Given the description of an element on the screen output the (x, y) to click on. 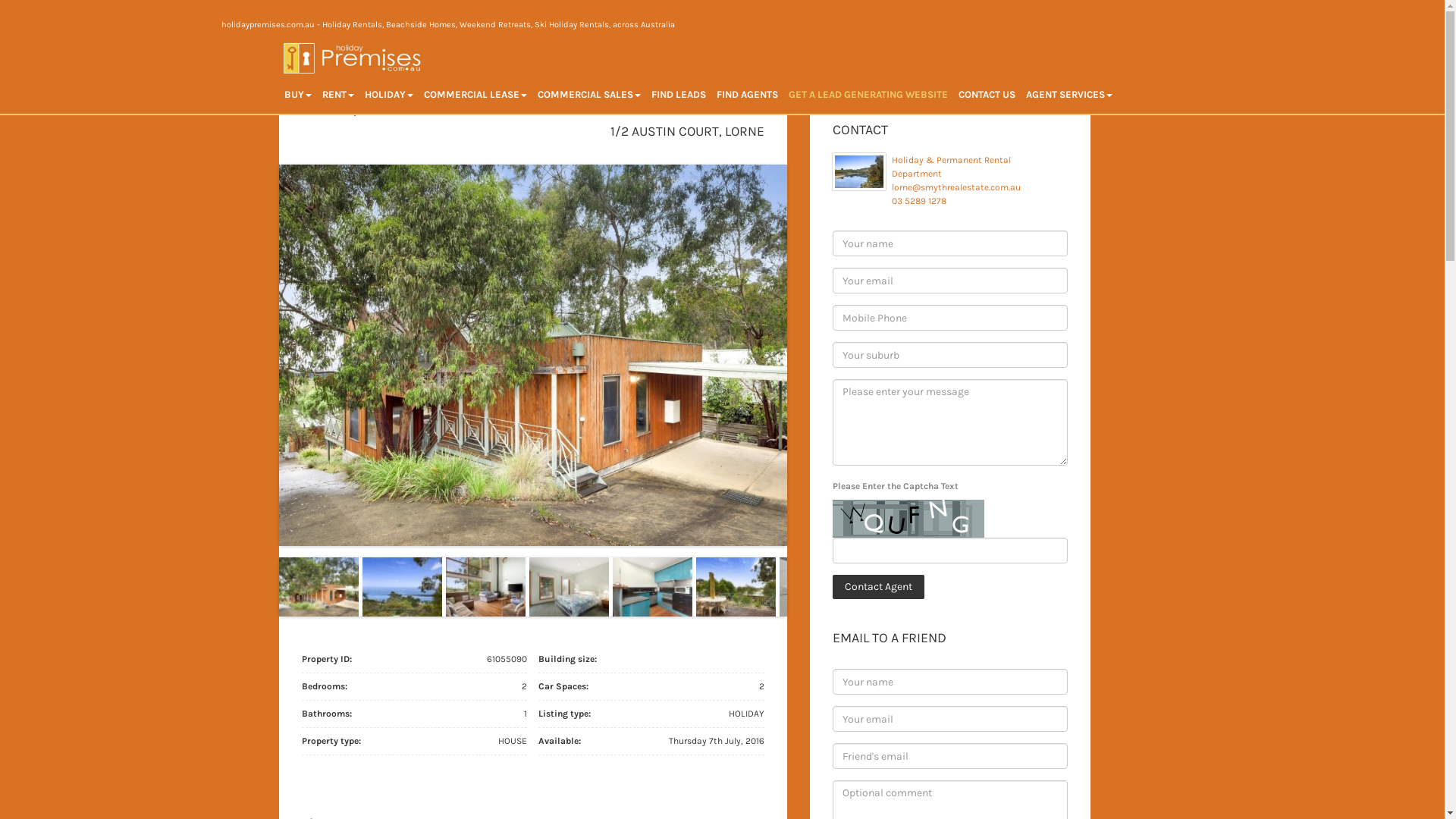
HOLIDAY Element type: text (388, 93)
Holiday & Permanent Rental Department Element type: text (950, 166)
COMMERCIAL LEASE Element type: text (475, 93)
BUY Element type: text (297, 93)
* Please provide valid phone number Element type: hover (949, 317)
Contact Agent Element type: text (878, 586)
RENT Element type: text (337, 93)
lorne@smythrealestate.com.au Element type: text (955, 187)
FIND AGENTS Element type: text (747, 93)
CONTACT US Element type: text (985, 93)
AGENT SERVICES Element type: text (1068, 93)
COMMERCIAL SALES Element type: text (589, 93)
FIND LEADS Element type: text (678, 93)
GET A LEAD GENERATING WEBSITE Element type: text (867, 93)
03 5289 1278 Element type: text (918, 200)
